Given the description of an element on the screen output the (x, y) to click on. 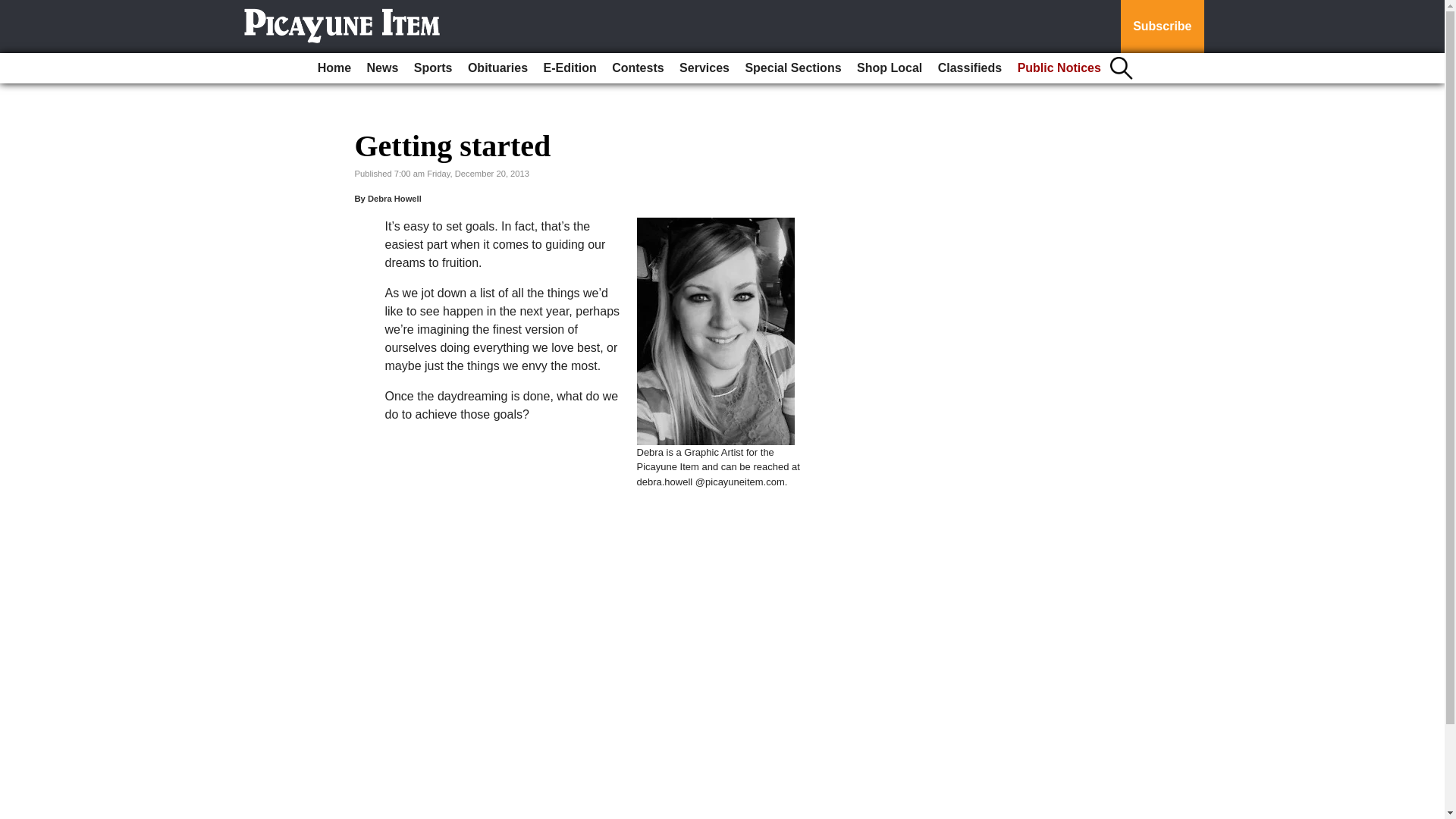
Obituaries (497, 68)
News (382, 68)
Shop Local (889, 68)
Public Notices (1058, 68)
Sports (432, 68)
Special Sections (792, 68)
Classifieds (969, 68)
Home (333, 68)
Debra Howell (395, 198)
Services (703, 68)
